Given the description of an element on the screen output the (x, y) to click on. 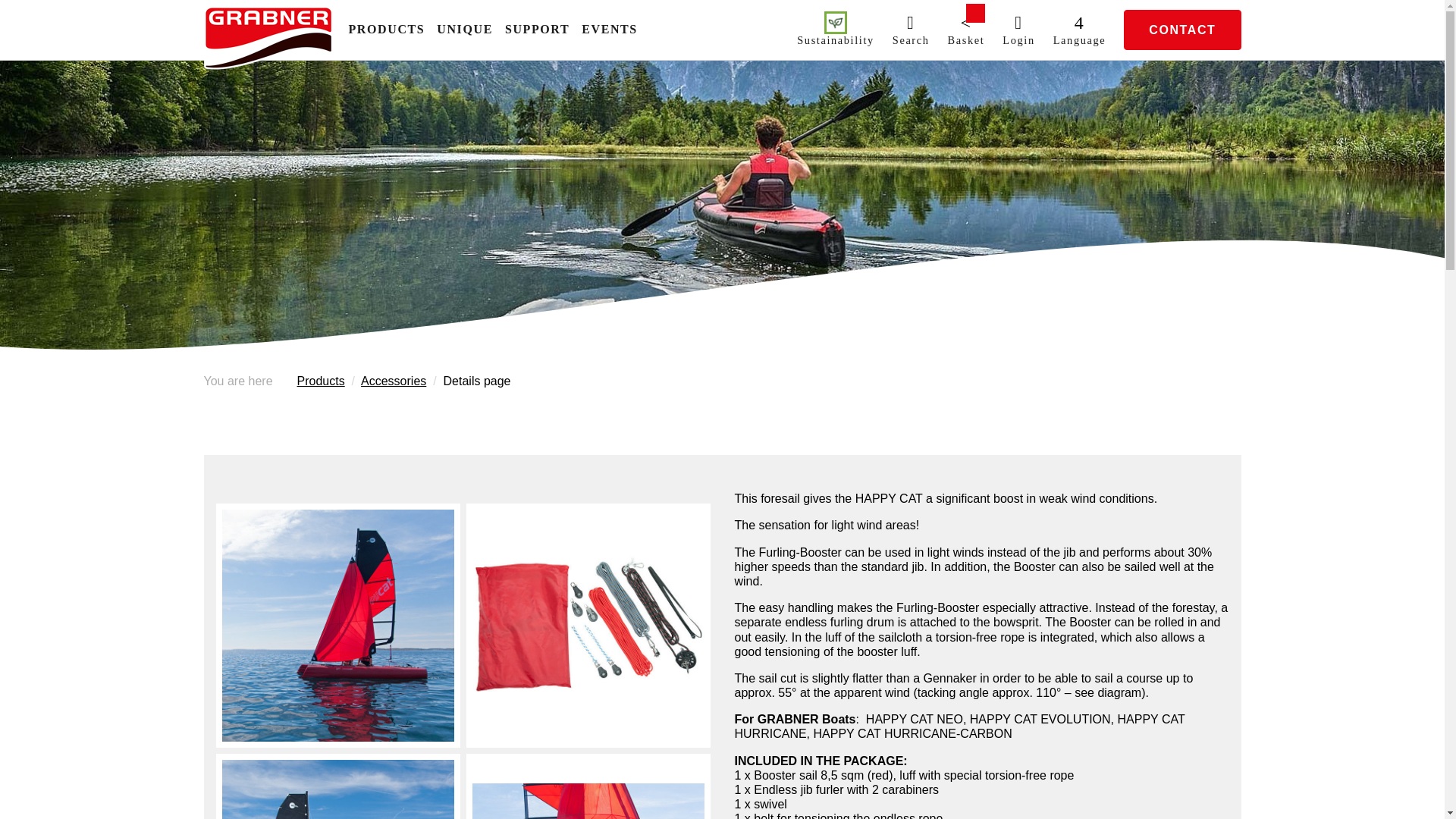
Grabner GmbH (267, 38)
UNIQUE (464, 29)
Unique (464, 29)
Events (608, 29)
Sustainability (835, 29)
CONTACT (1182, 29)
EVENTS (608, 29)
PRODUCTS (387, 29)
SUPPORT (537, 29)
Support (537, 29)
